Given the description of an element on the screen output the (x, y) to click on. 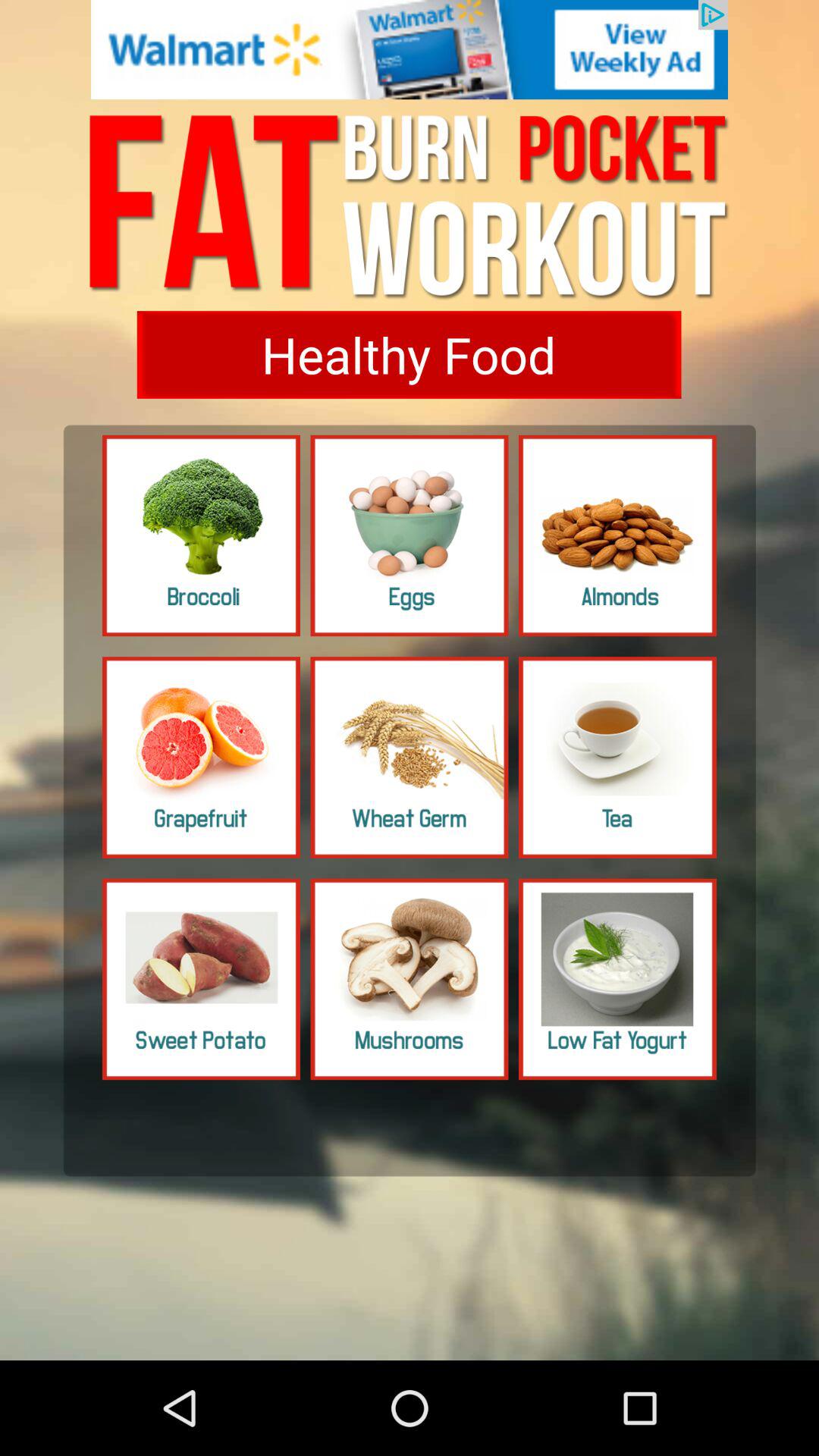
almonds (617, 535)
